Given the description of an element on the screen output the (x, y) to click on. 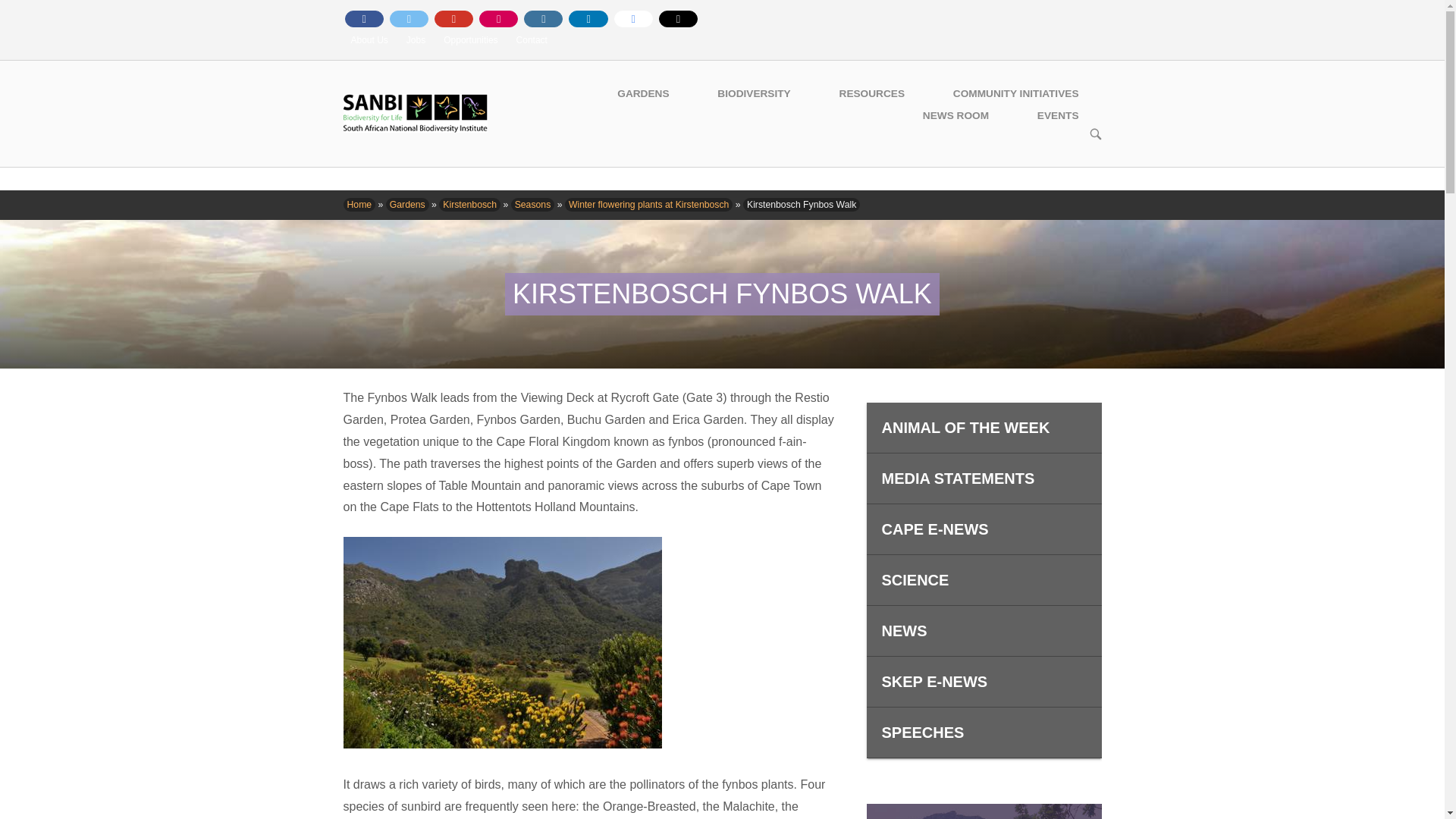
NEWS (983, 631)
COMMUNITY INITIATIVES (1016, 93)
Home (414, 112)
SPEECHES (983, 732)
MEDIA STATEMENTS (983, 478)
SANBI on Instagram (543, 18)
Jobs (416, 40)
About Us (369, 40)
SANBI on Facebook (362, 18)
SANBI on Tiktok (678, 18)
Home (358, 204)
Winter flowering plants at Kirstenbosch (648, 204)
Contact (531, 40)
GARDENS (642, 93)
SANBI on Youtube (453, 18)
